Given the description of an element on the screen output the (x, y) to click on. 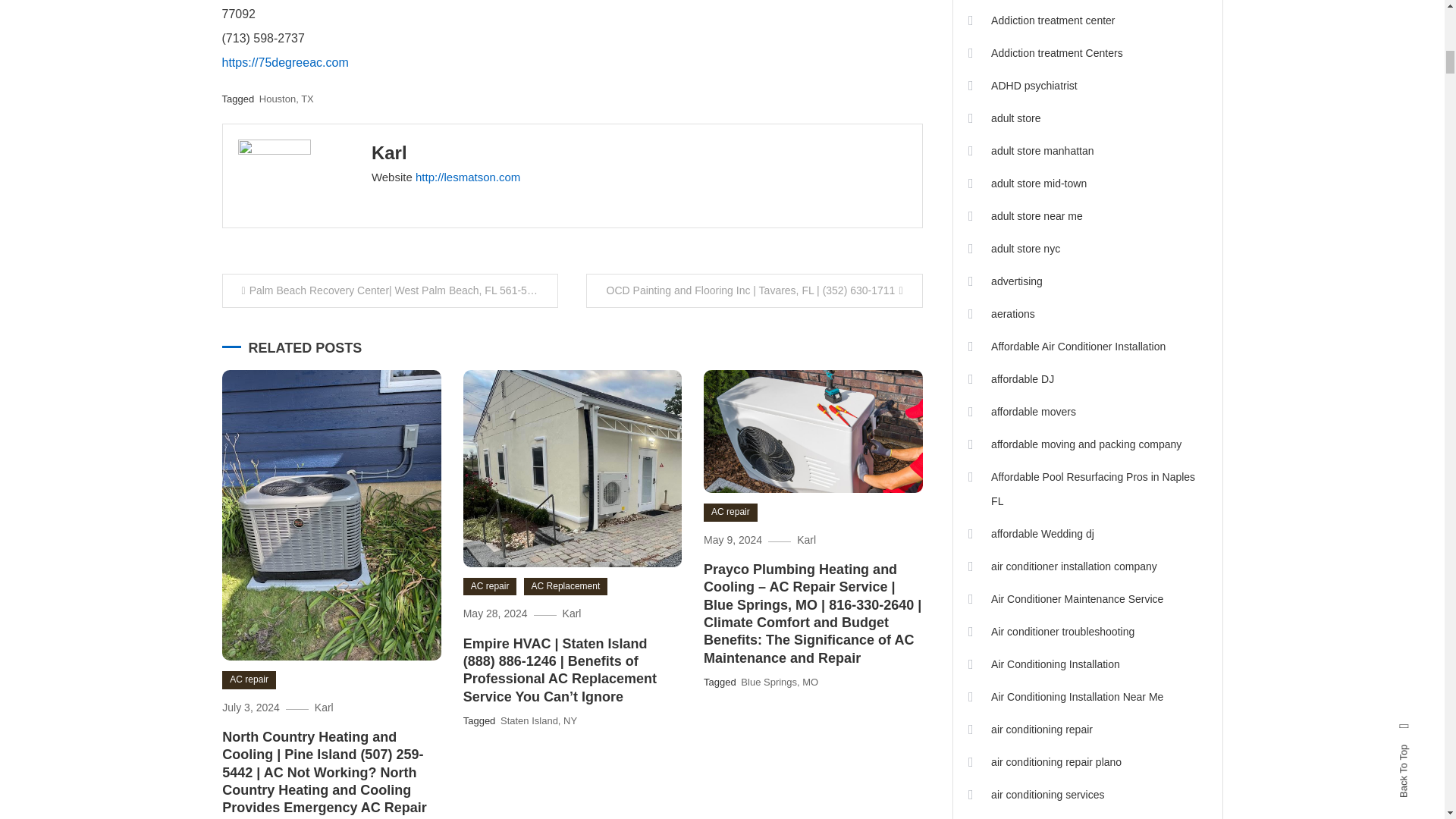
Posts by Karl (389, 152)
